Given the description of an element on the screen output the (x, y) to click on. 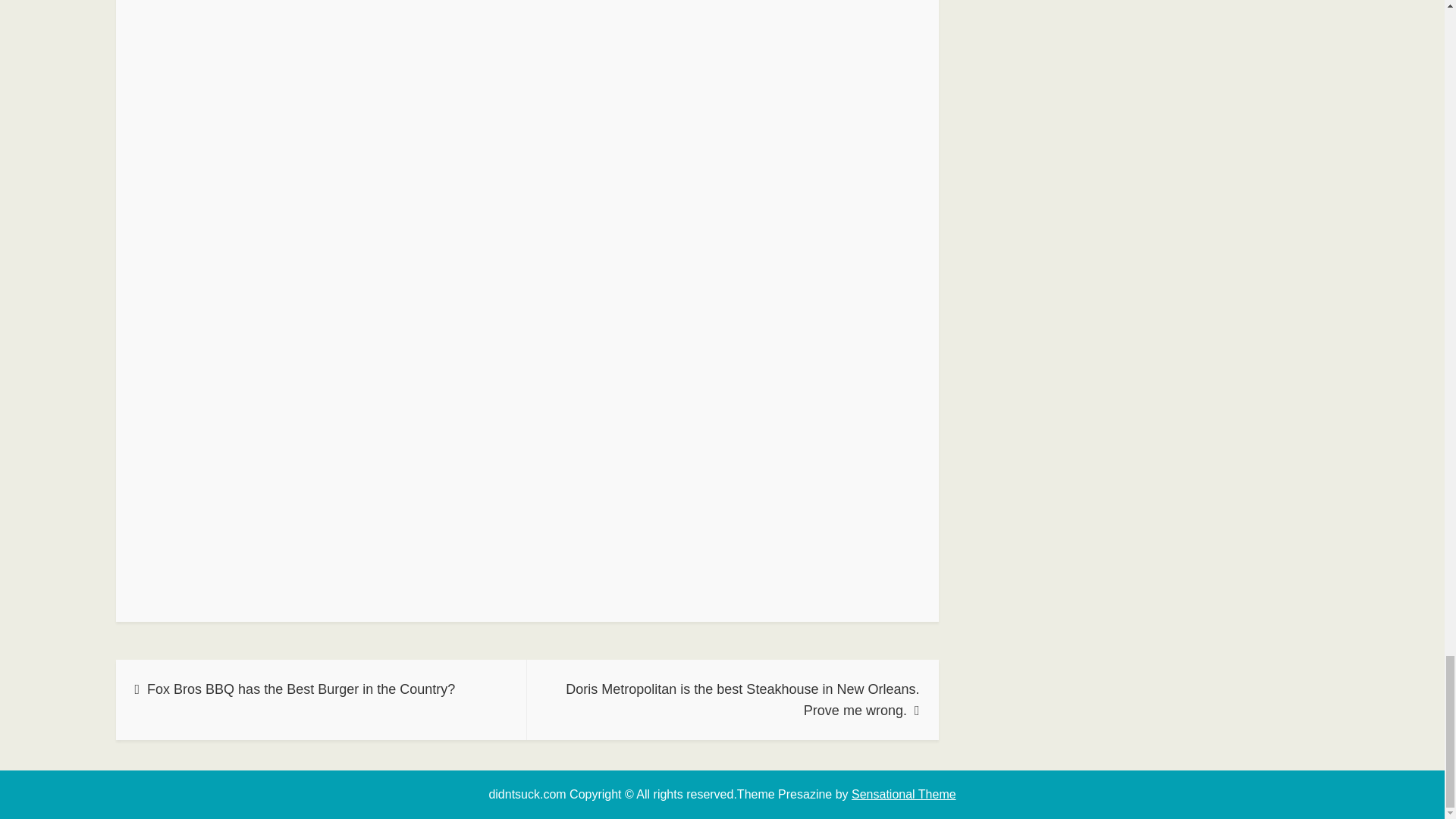
Fox Bros BBQ has the Best Burger in the Country? (321, 700)
